Given the description of an element on the screen output the (x, y) to click on. 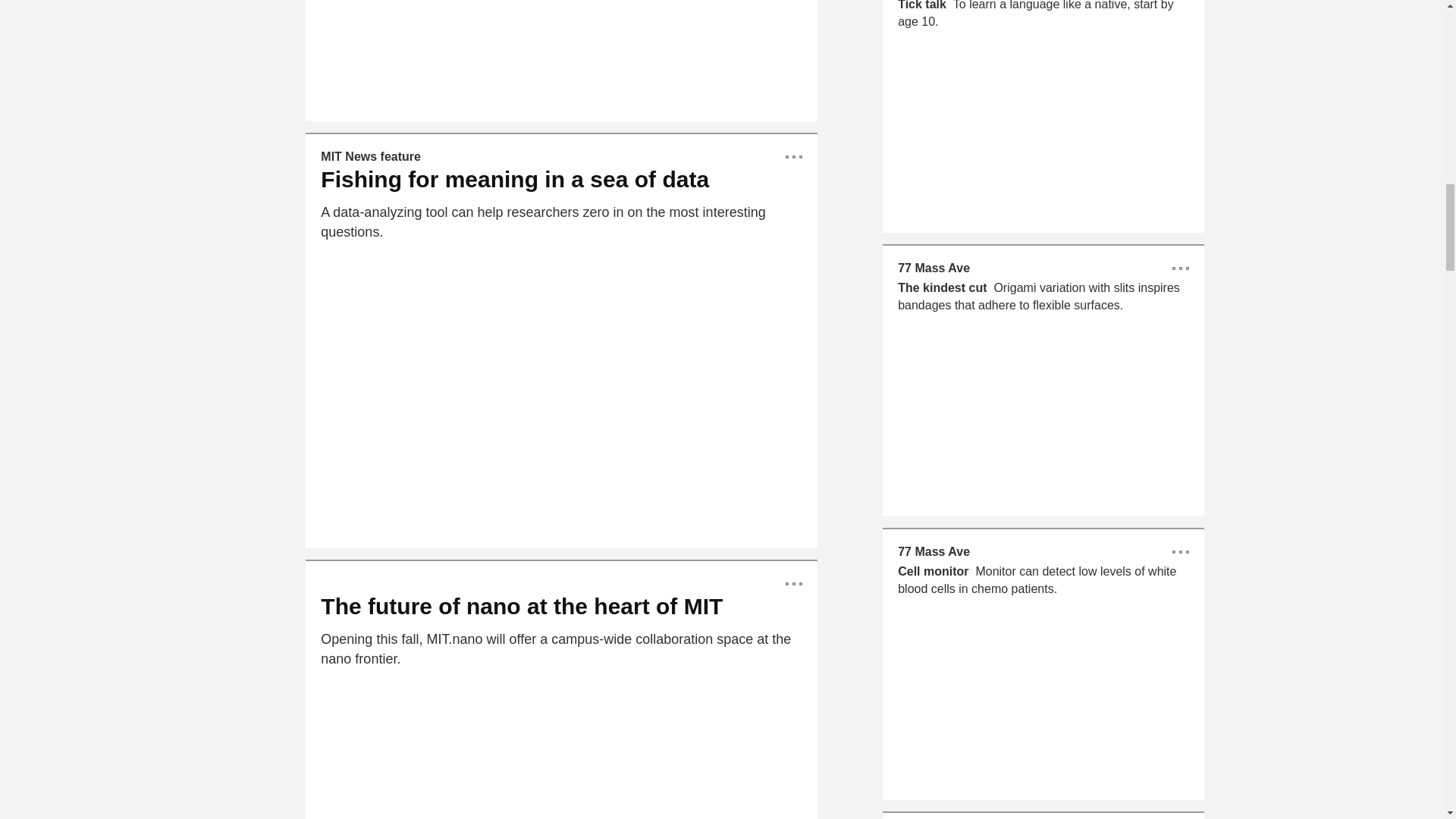
The future of nano at the heart of MIT (370, 155)
Fishing for meaning in a sea of data (521, 606)
